Given the description of an element on the screen output the (x, y) to click on. 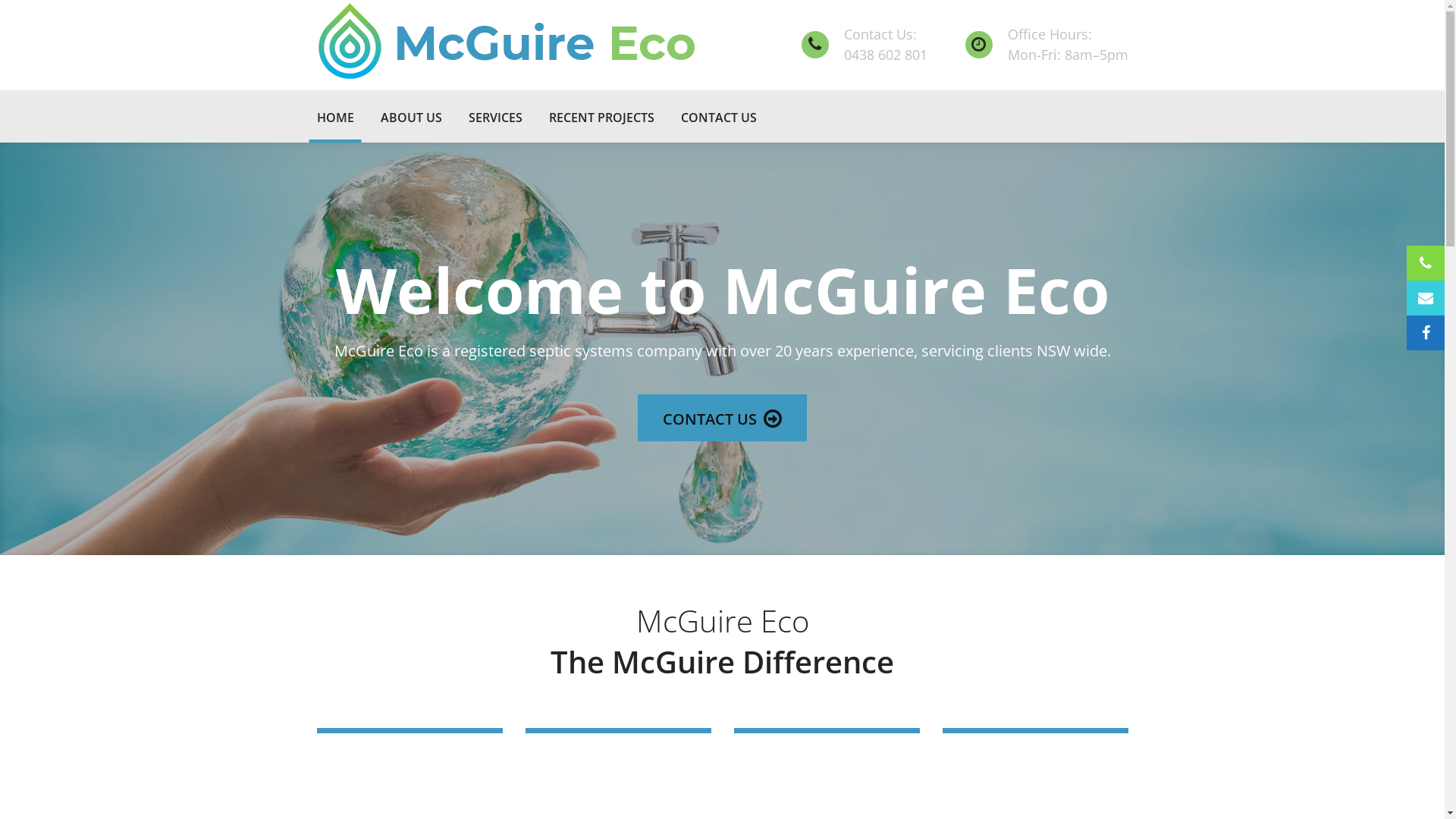
SERVICES Element type: text (495, 116)
HOME Element type: text (335, 116)
Skip to content Element type: text (0, 0)
ABOUT US Element type: text (411, 116)
0438 602 801 Element type: text (884, 54)
CONTACT US Element type: text (718, 116)
RECENT PROJECTS Element type: text (601, 116)
CONTACT US Element type: text (721, 417)
